Given the description of an element on the screen output the (x, y) to click on. 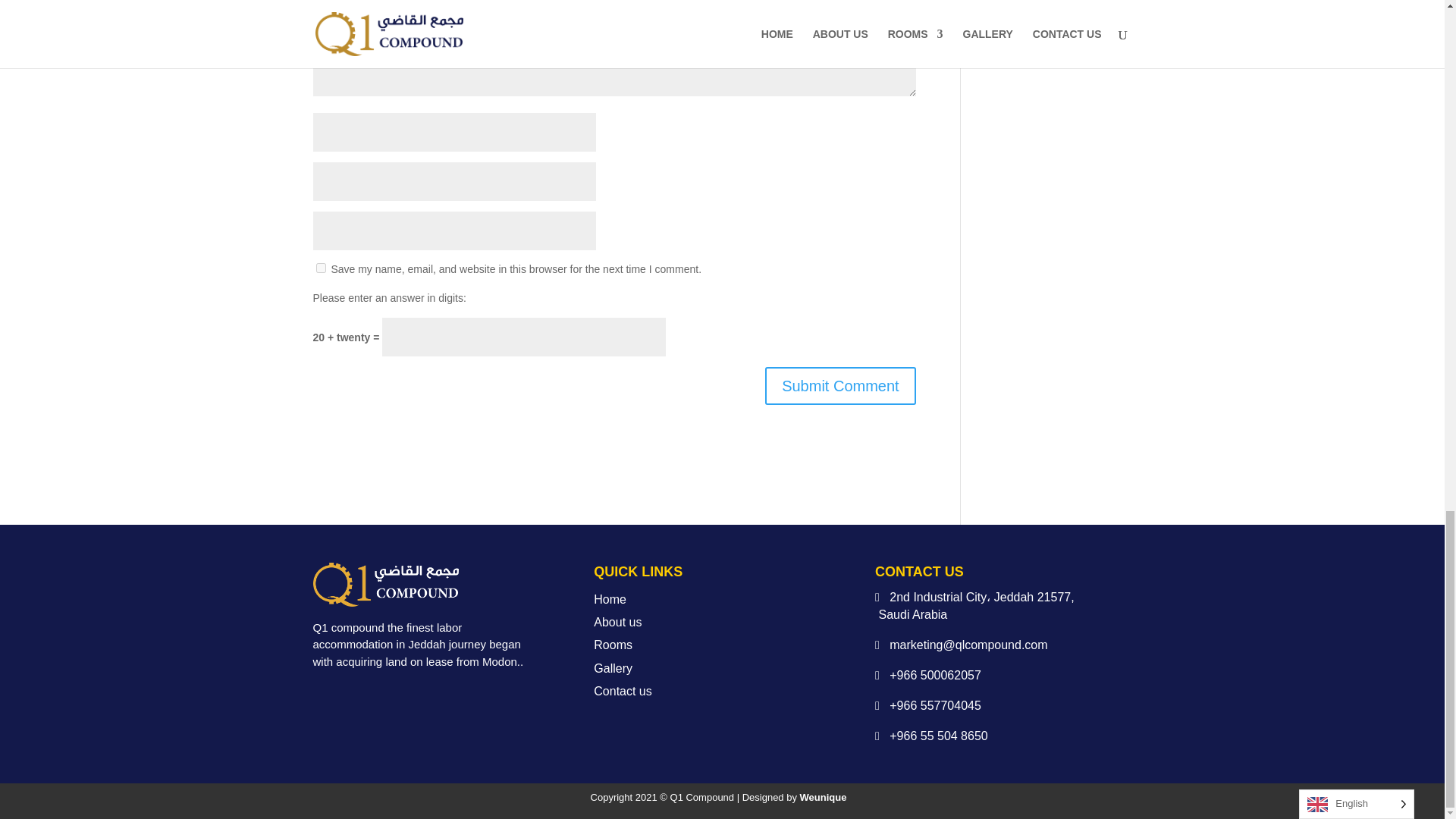
About us (618, 621)
Home (610, 599)
yes (319, 267)
Official-png-2White (385, 584)
Submit Comment (840, 385)
Gallery (612, 667)
Weunique (823, 797)
Submit Comment (840, 385)
Contact us (622, 690)
Rooms (612, 644)
